Given the description of an element on the screen output the (x, y) to click on. 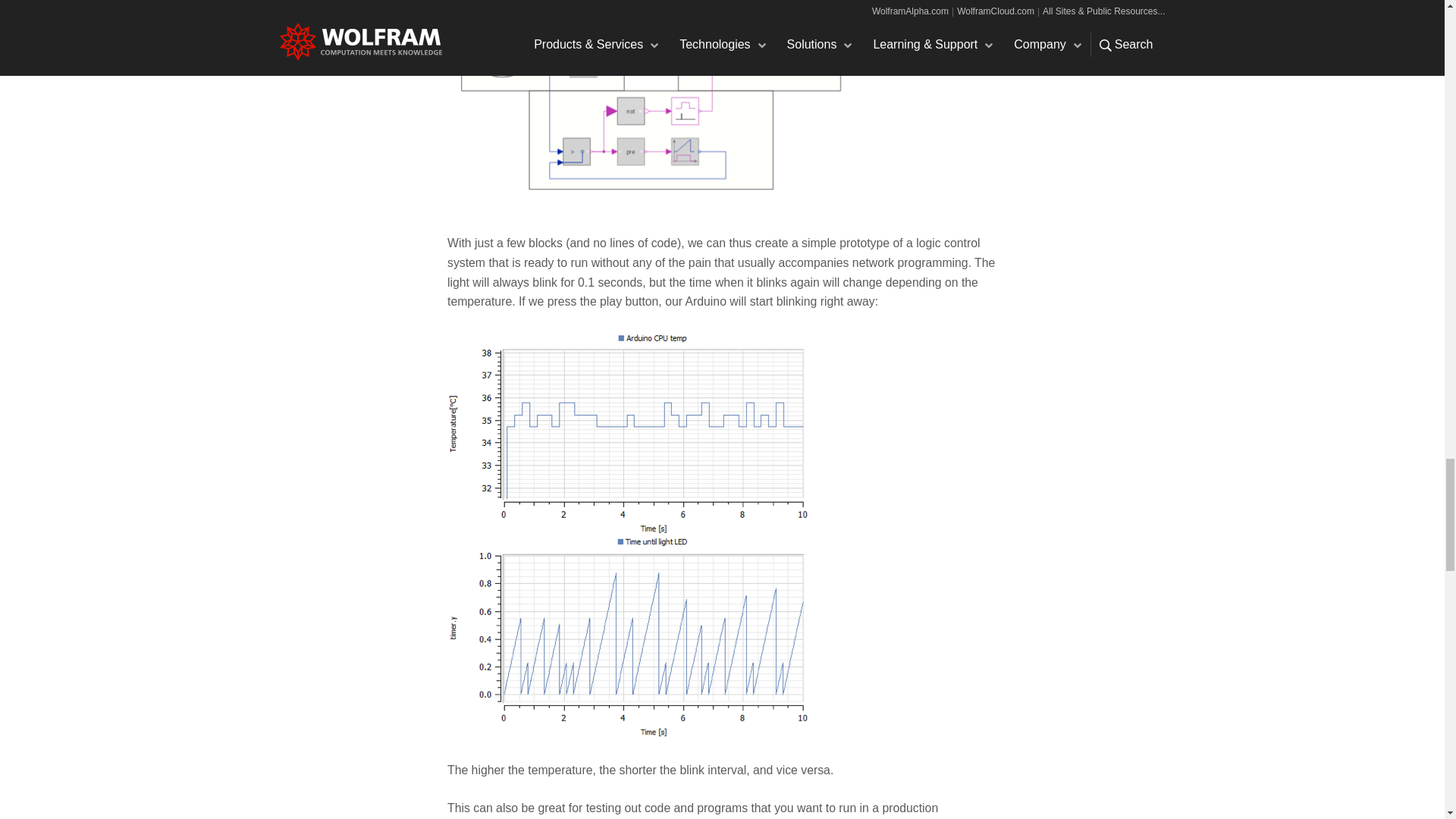
SystemModeler OPCUA Arduino map (650, 105)
